Given the description of an element on the screen output the (x, y) to click on. 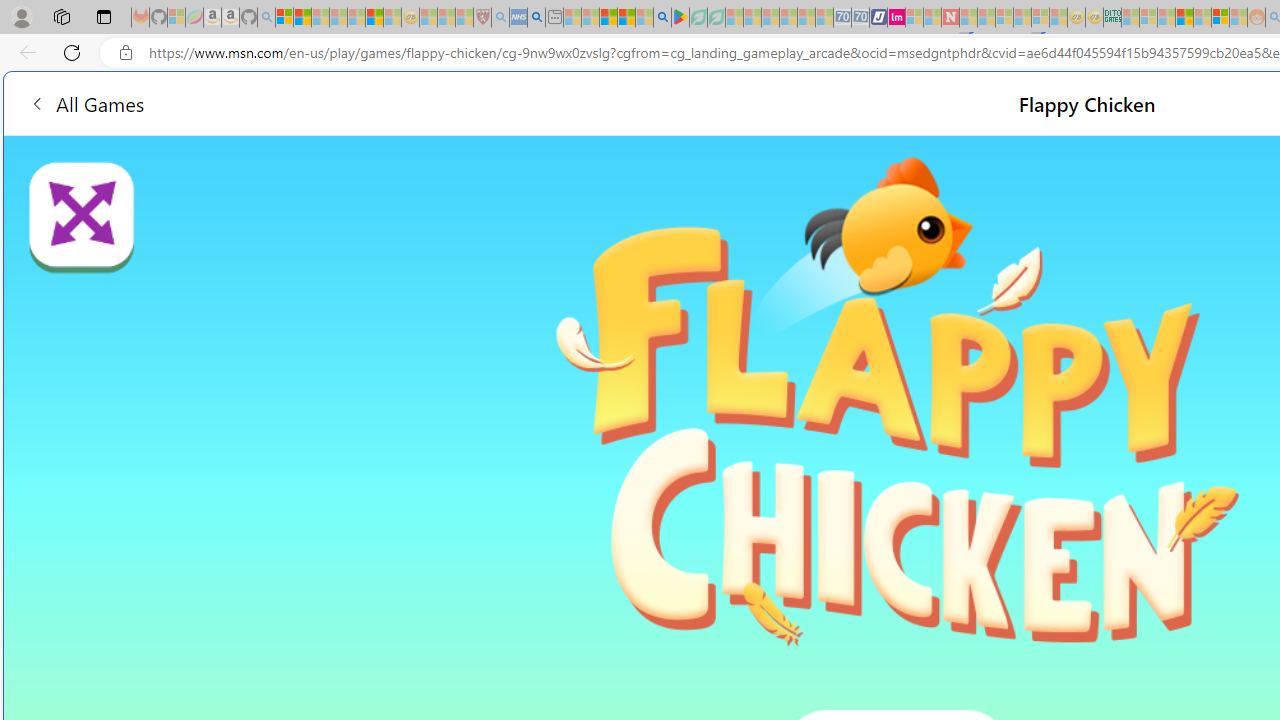
All Games (86, 102)
utah sues federal government - Search (536, 17)
